Given the description of an element on the screen output the (x, y) to click on. 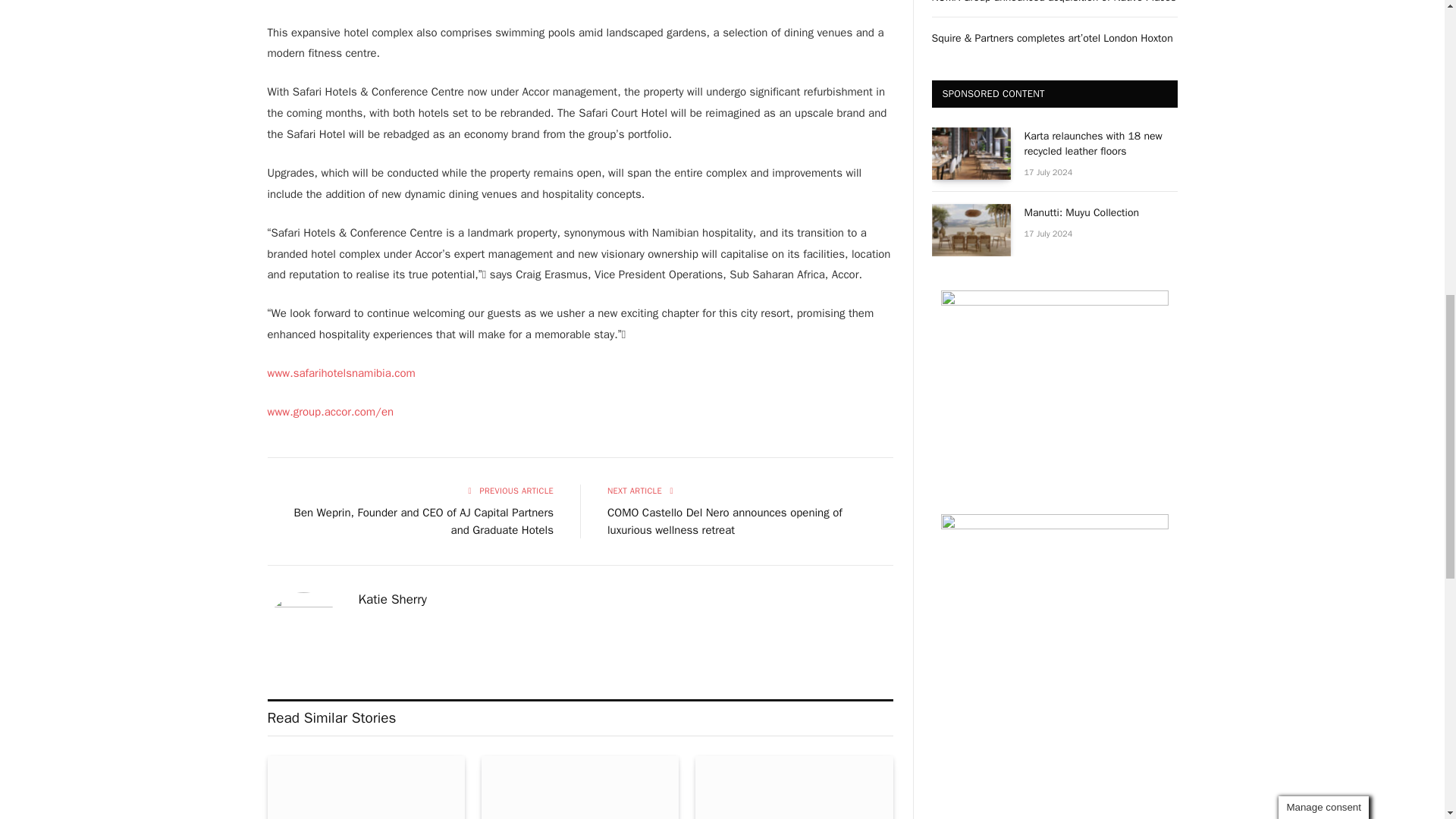
NUMA Group announced acquisition of Native Places (579, 787)
Posts by Katie Sherry (392, 599)
